Given the description of an element on the screen output the (x, y) to click on. 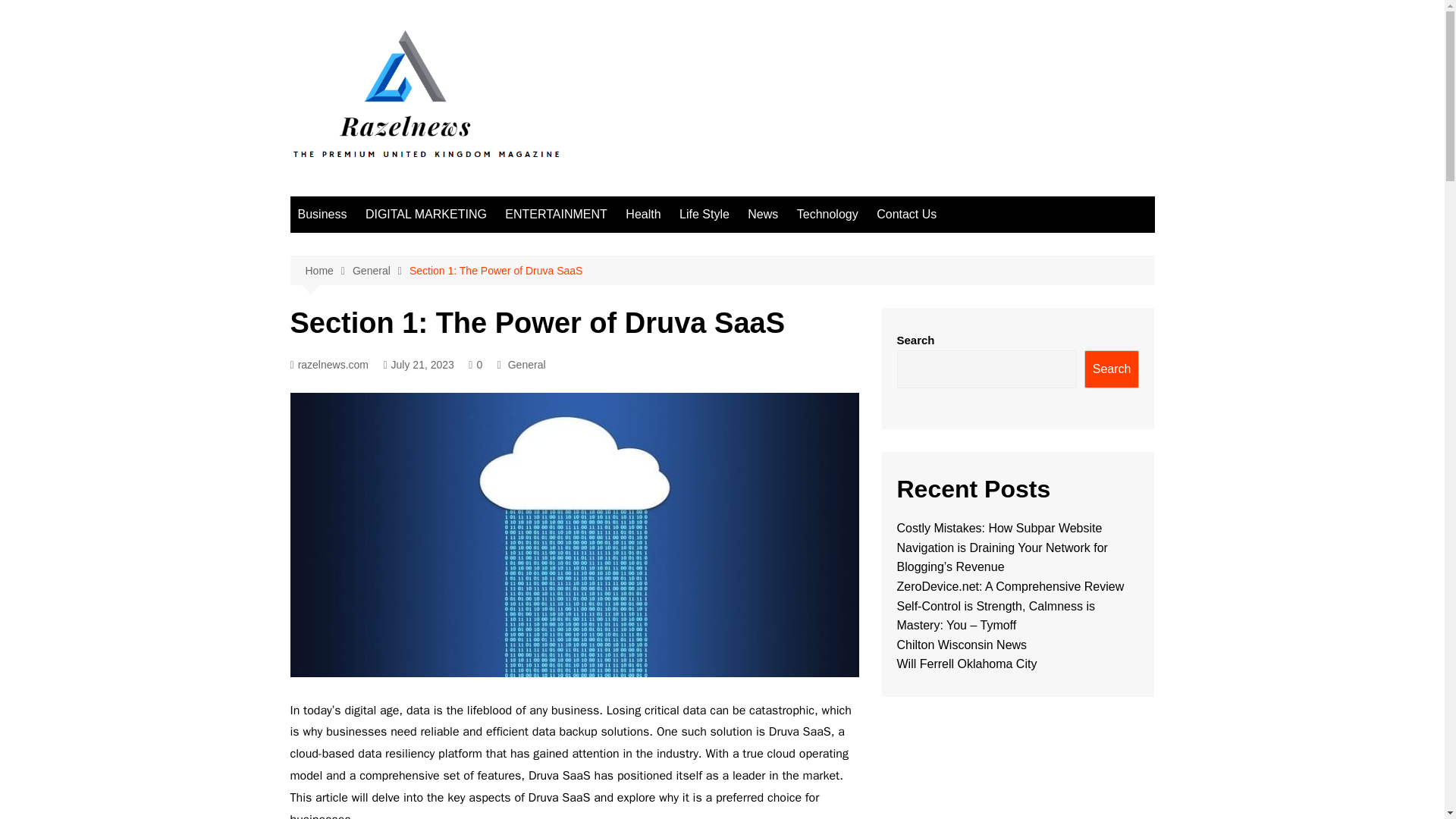
General (527, 364)
General (380, 271)
0 (474, 364)
Contact Us (906, 214)
Home (328, 271)
Business (321, 214)
News (762, 214)
DIGITAL MARKETING (426, 214)
Health (642, 214)
razelnews.com (328, 364)
Life Style (703, 214)
Section 1: The Power of Druva SaaS (496, 270)
ENTERTAINMENT (555, 214)
July 21, 2023 (417, 364)
Technology (827, 214)
